Given the description of an element on the screen output the (x, y) to click on. 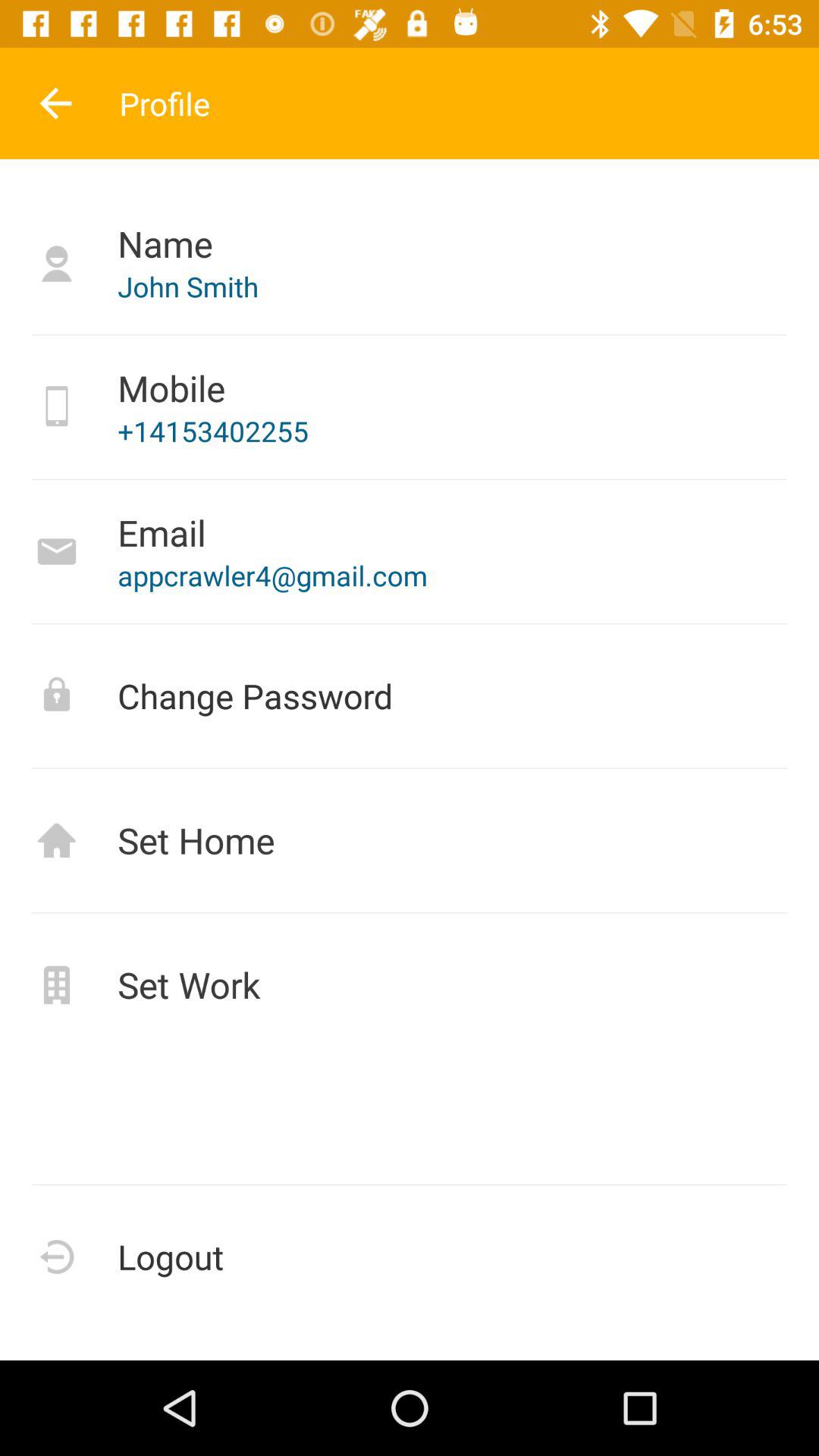
open the item next to the profile app (55, 103)
